Given the description of an element on the screen output the (x, y) to click on. 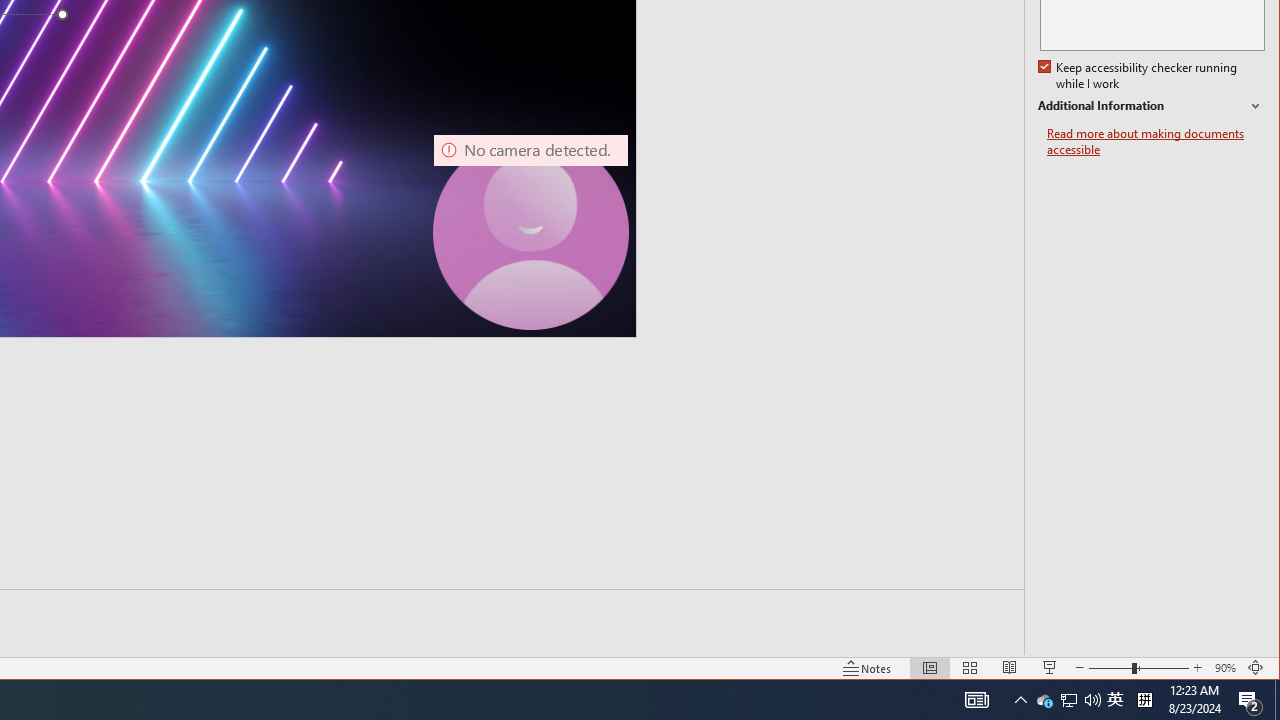
User Promoted Notification Area (1068, 699)
AutomationID: 4105 (976, 699)
Camera 7, No camera detected. (530, 232)
Zoom 90% (1225, 668)
Additional Information (1151, 106)
Keep accessibility checker running while I work (1139, 76)
Q2790: 100% (1044, 699)
